Given the description of an element on the screen output the (x, y) to click on. 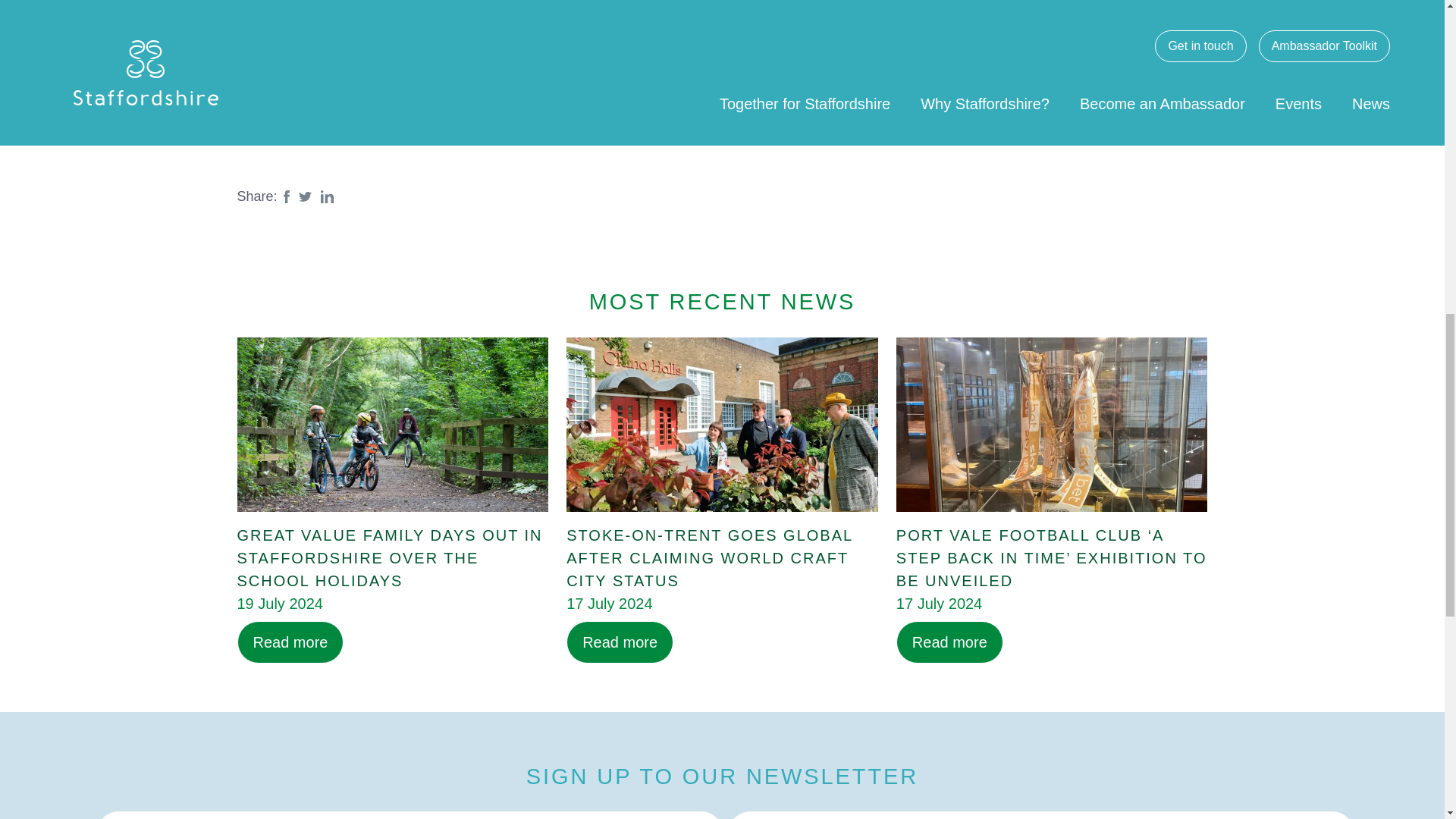
Read more (949, 641)
Read more (289, 641)
Read more (619, 641)
